Given the description of an element on the screen output the (x, y) to click on. 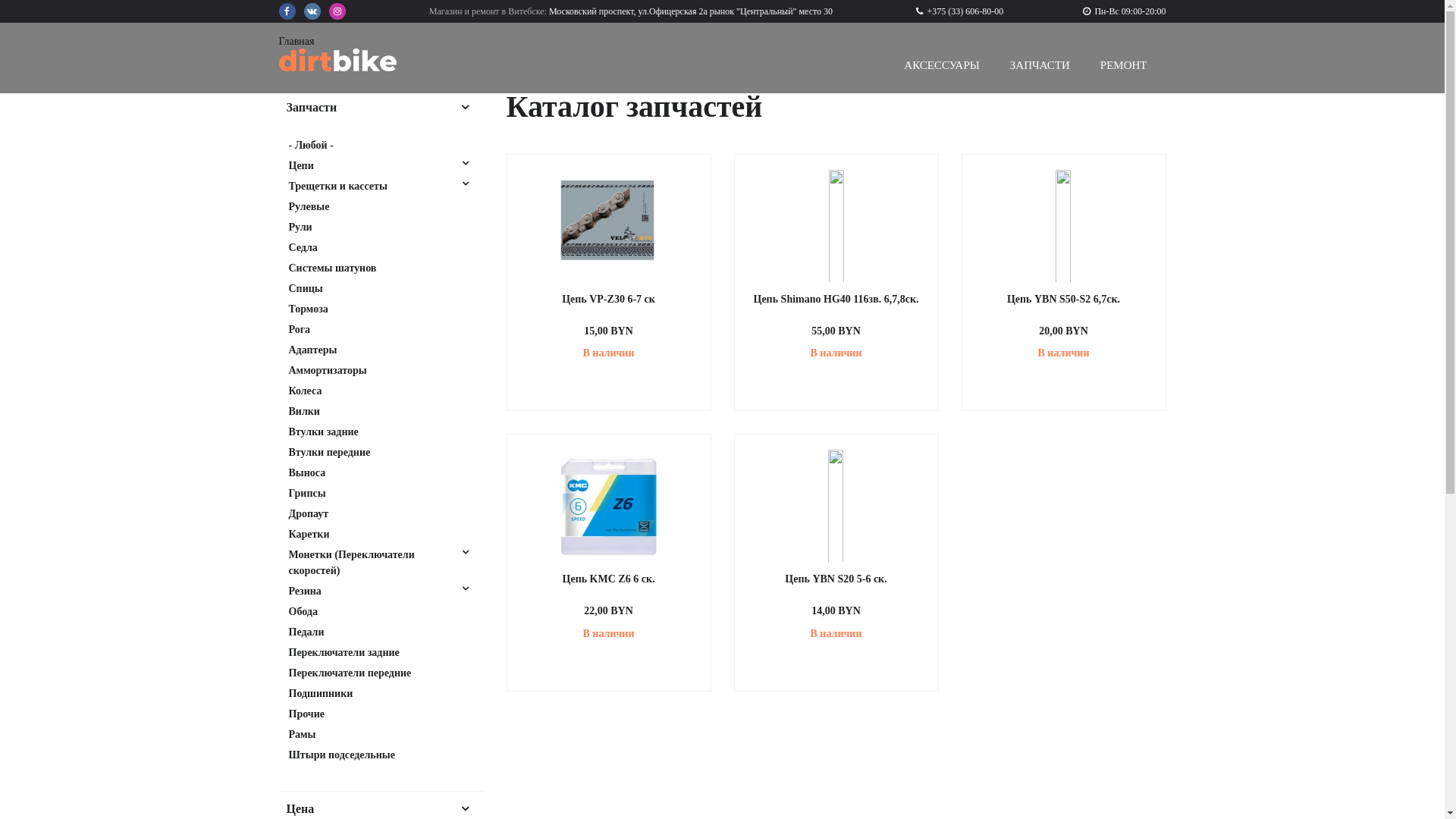
+375 (33) 606-80-00 Element type: text (959, 10)
